Given the description of an element on the screen output the (x, y) to click on. 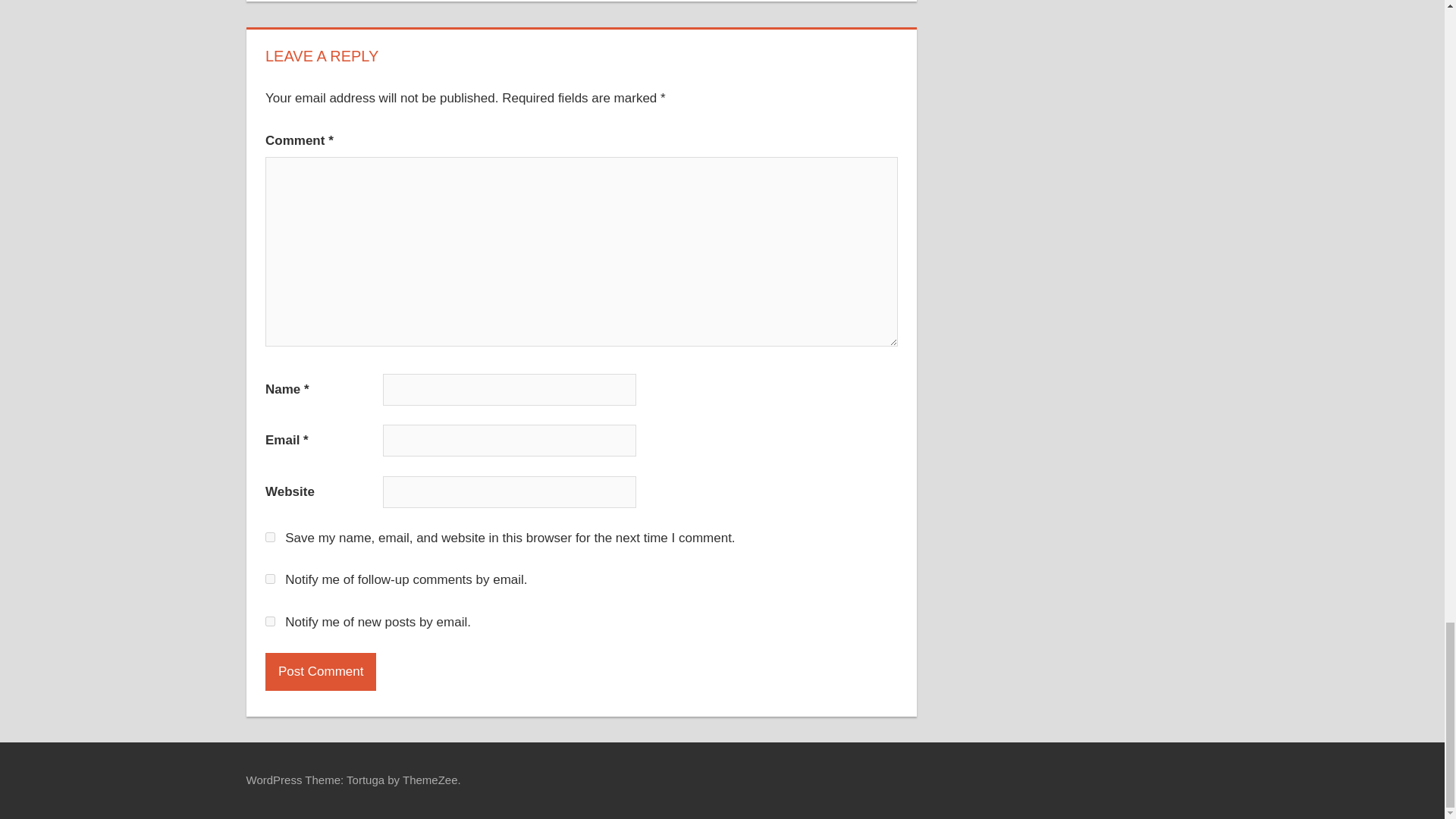
yes (269, 537)
subscribe (269, 578)
Post Comment (319, 671)
Post Comment (319, 671)
subscribe (269, 621)
